Given the description of an element on the screen output the (x, y) to click on. 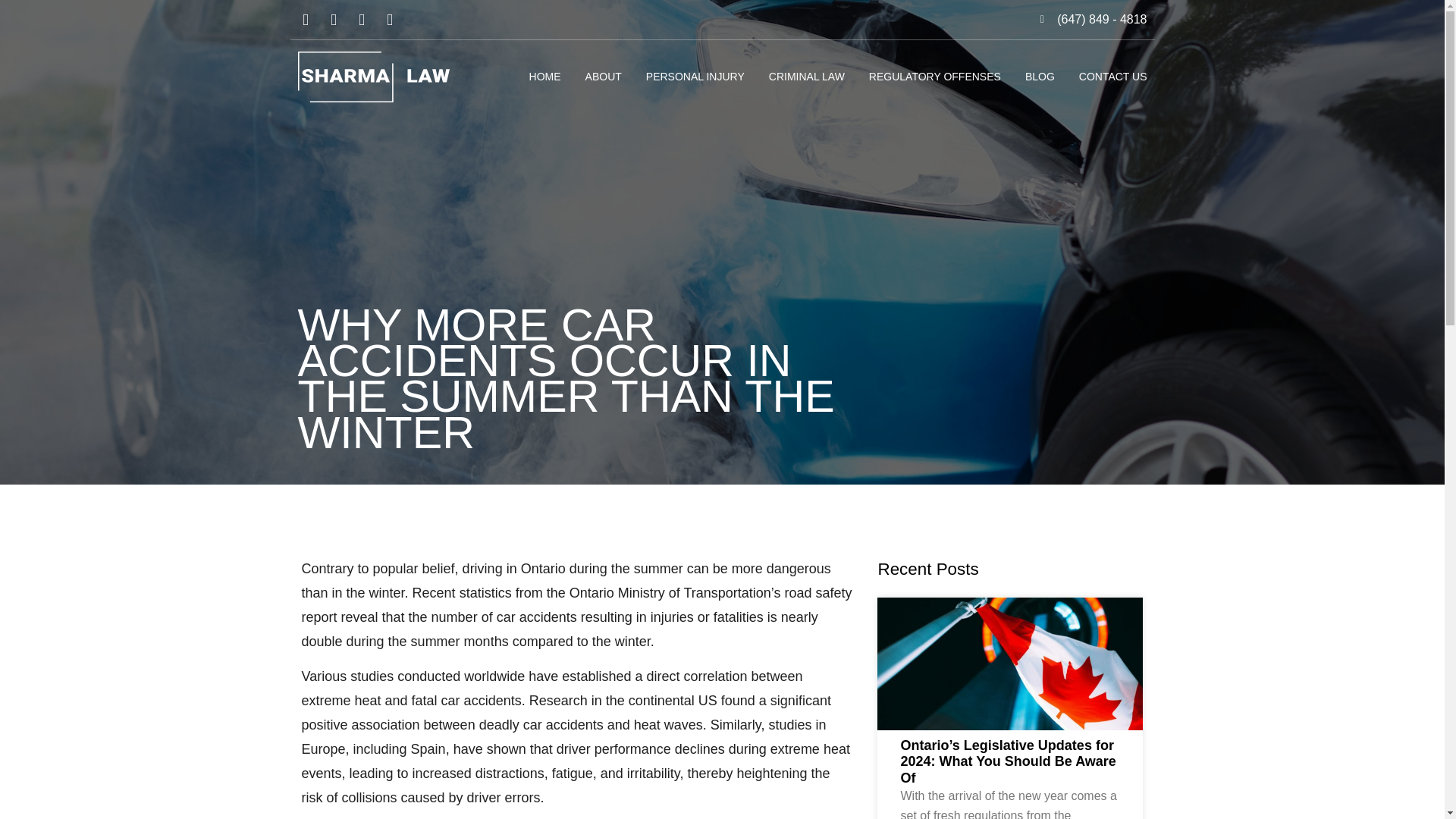
CONTACT US (1112, 76)
PERSONAL INJURY (695, 76)
CRIMINAL LAW (806, 76)
REGULATORY OFFENSES (935, 76)
HOME (544, 76)
ABOUT (603, 76)
BLOG (1039, 76)
